Given the description of an element on the screen output the (x, y) to click on. 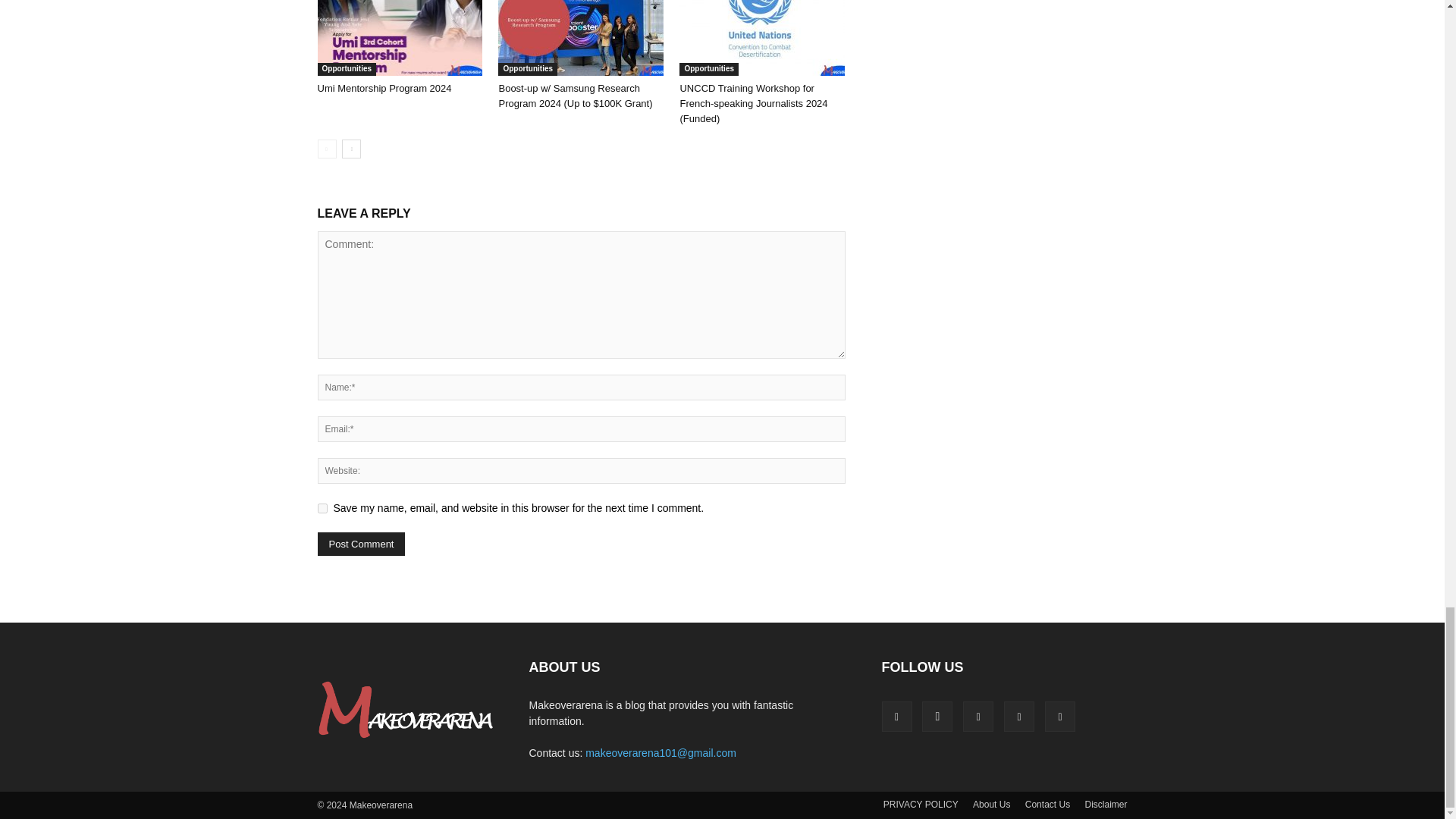
Post Comment (360, 544)
yes (321, 508)
